Given the description of an element on the screen output the (x, y) to click on. 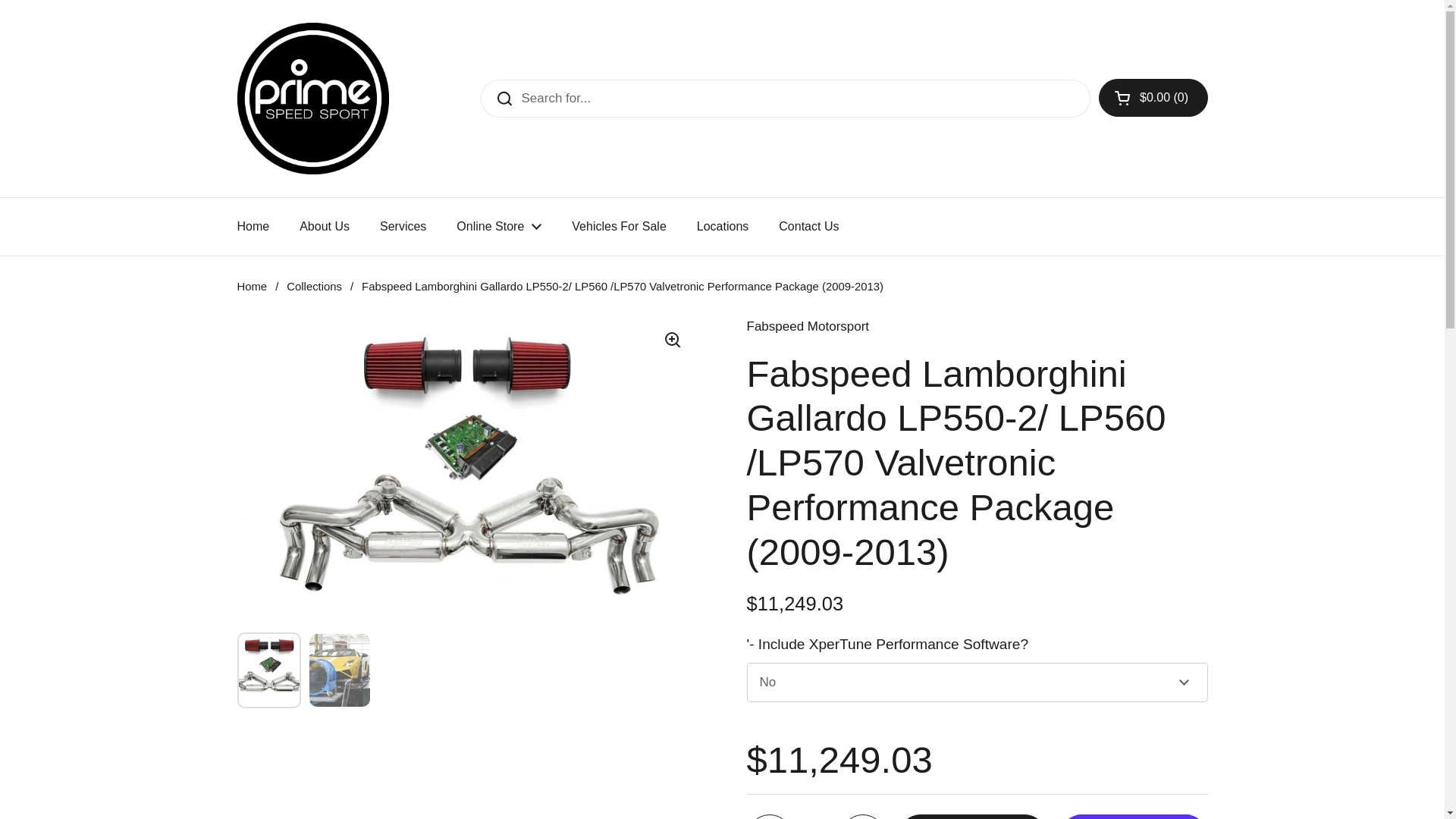
Open cart (1153, 97)
1 (815, 816)
Online Store (498, 226)
Home (252, 226)
Prime Speed Sport (311, 98)
Services (403, 226)
Home (252, 226)
Services (403, 226)
About Us (324, 226)
Online Store (498, 226)
About Us (324, 226)
